Given the description of an element on the screen output the (x, y) to click on. 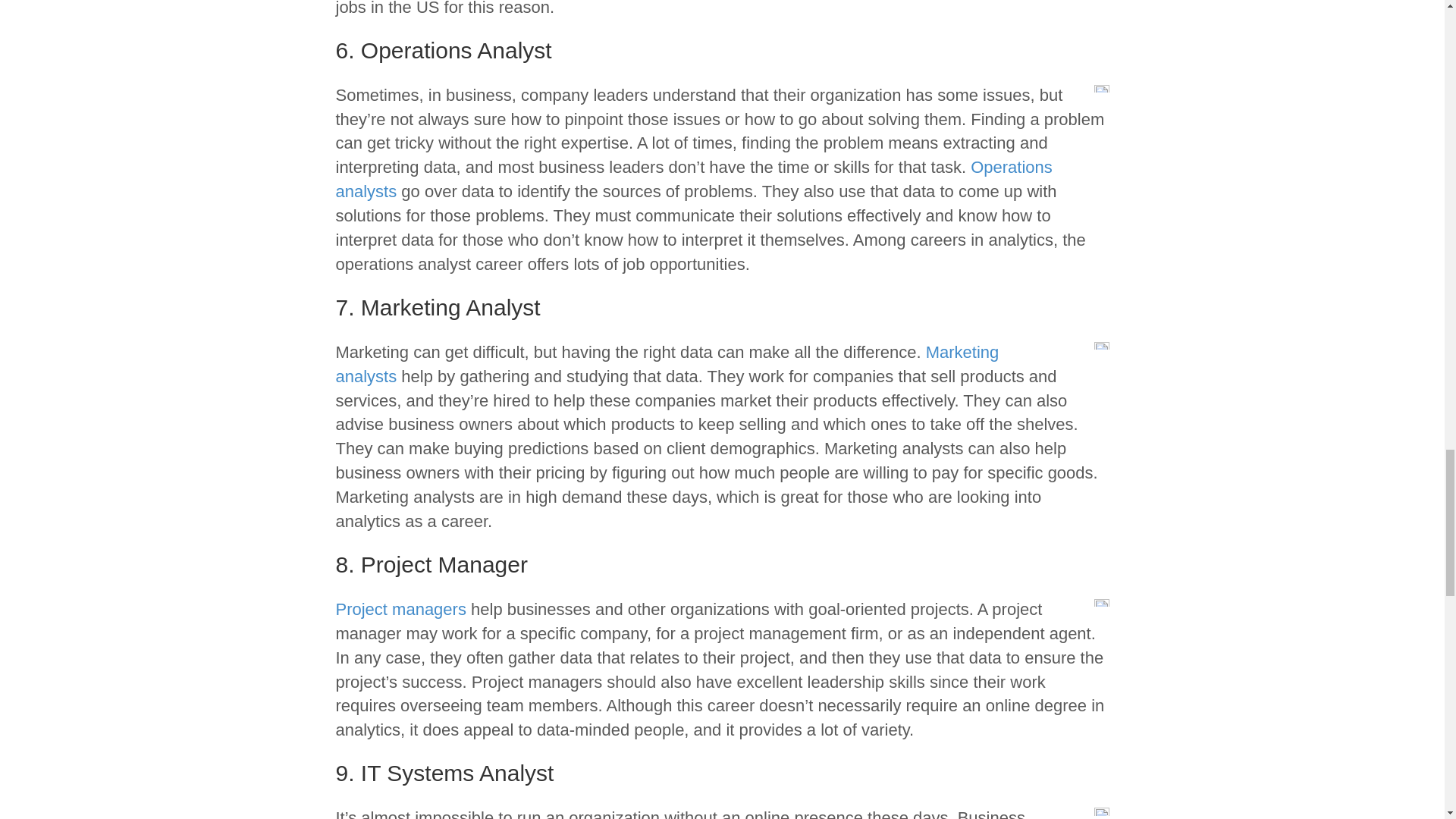
Operations analysts (692, 179)
Marketing analysts (666, 364)
Project managers (399, 609)
